Given the description of an element on the screen output the (x, y) to click on. 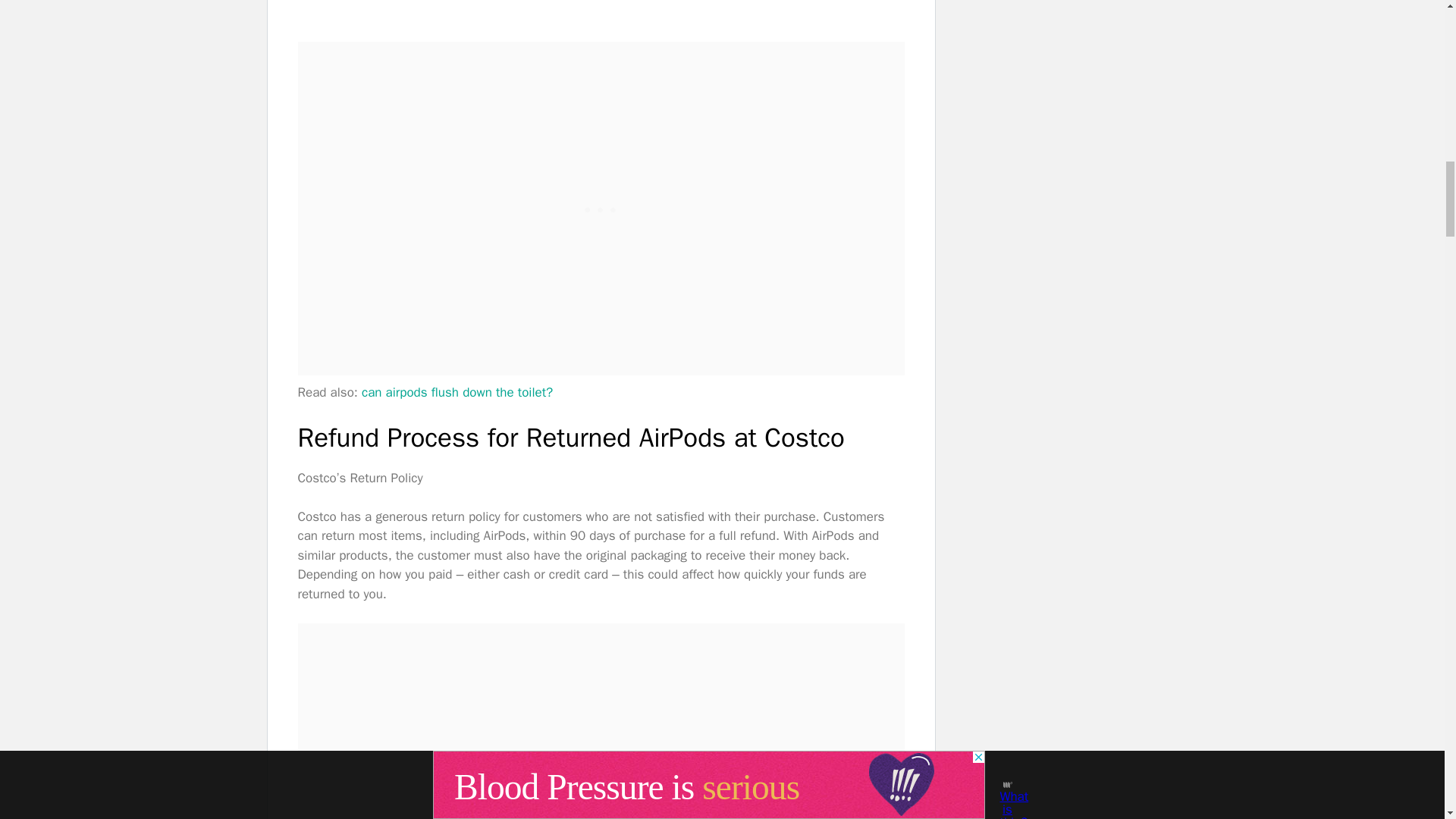
can airpods flush down the toilet? (457, 392)
